Given the description of an element on the screen output the (x, y) to click on. 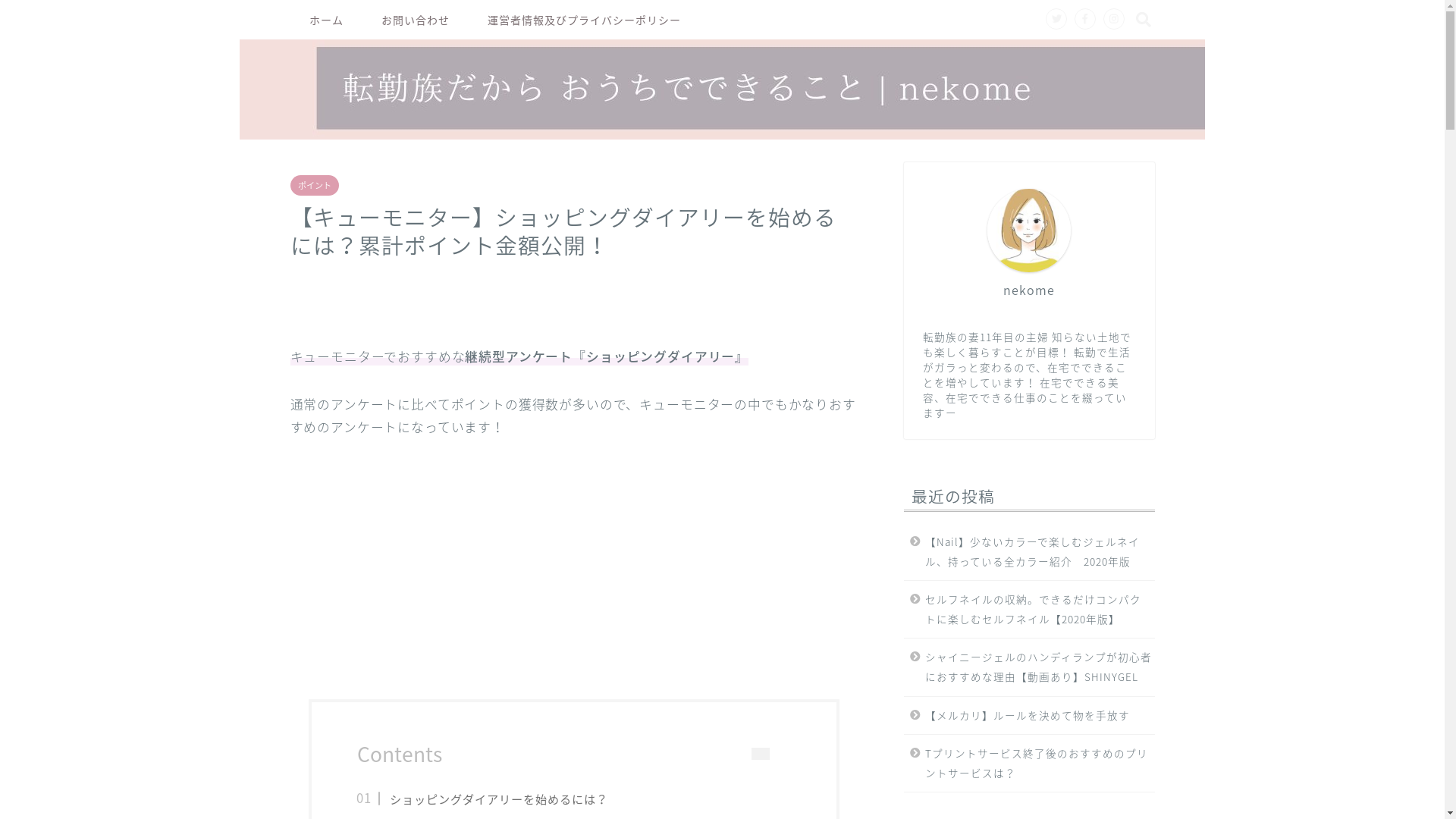
Advertisement Element type: hover (573, 568)
